Given the description of an element on the screen output the (x, y) to click on. 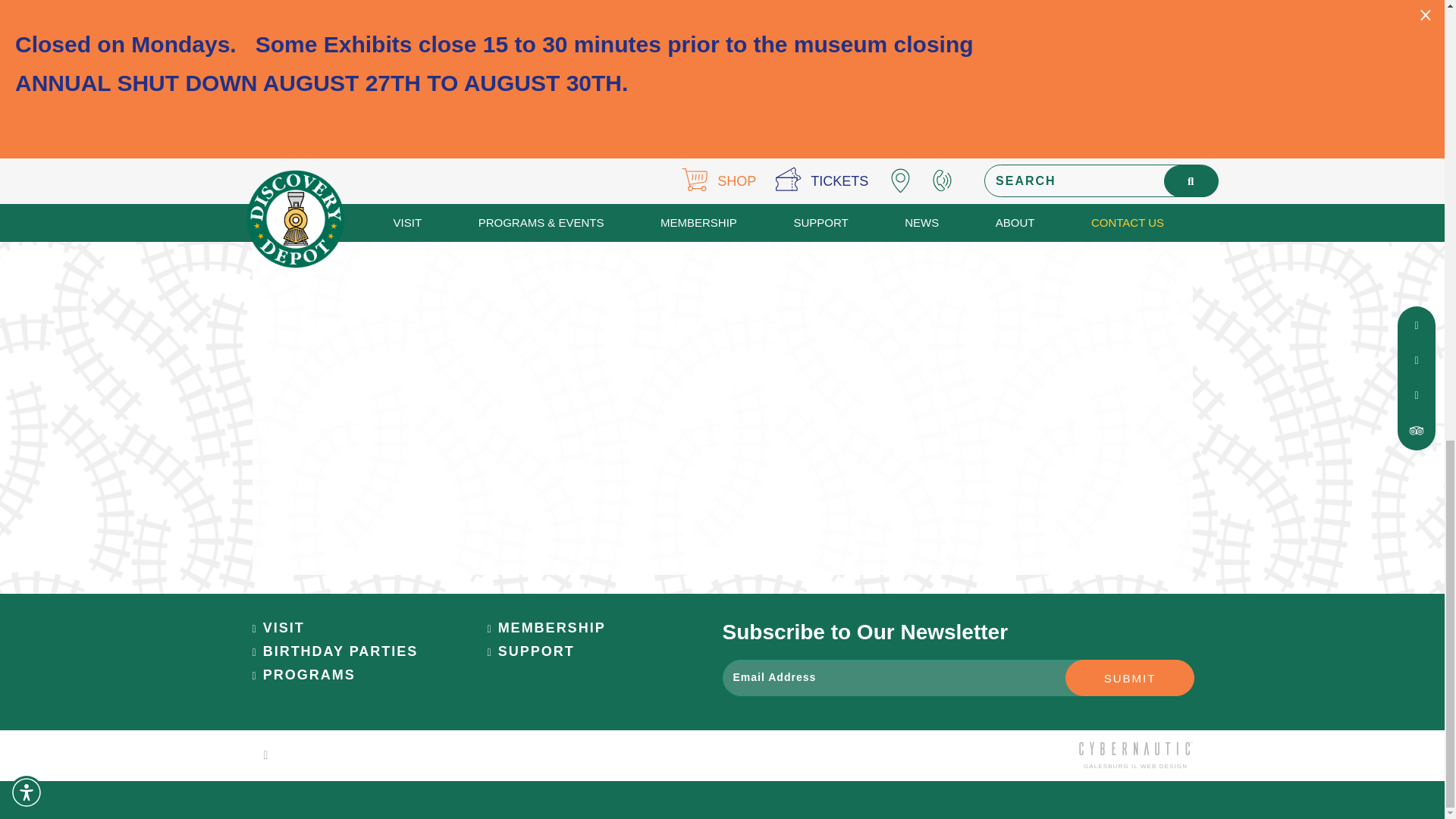
BIRTHDAY PARTIES (334, 651)
VISIT (277, 627)
PROGRAMS (303, 675)
